Given the description of an element on the screen output the (x, y) to click on. 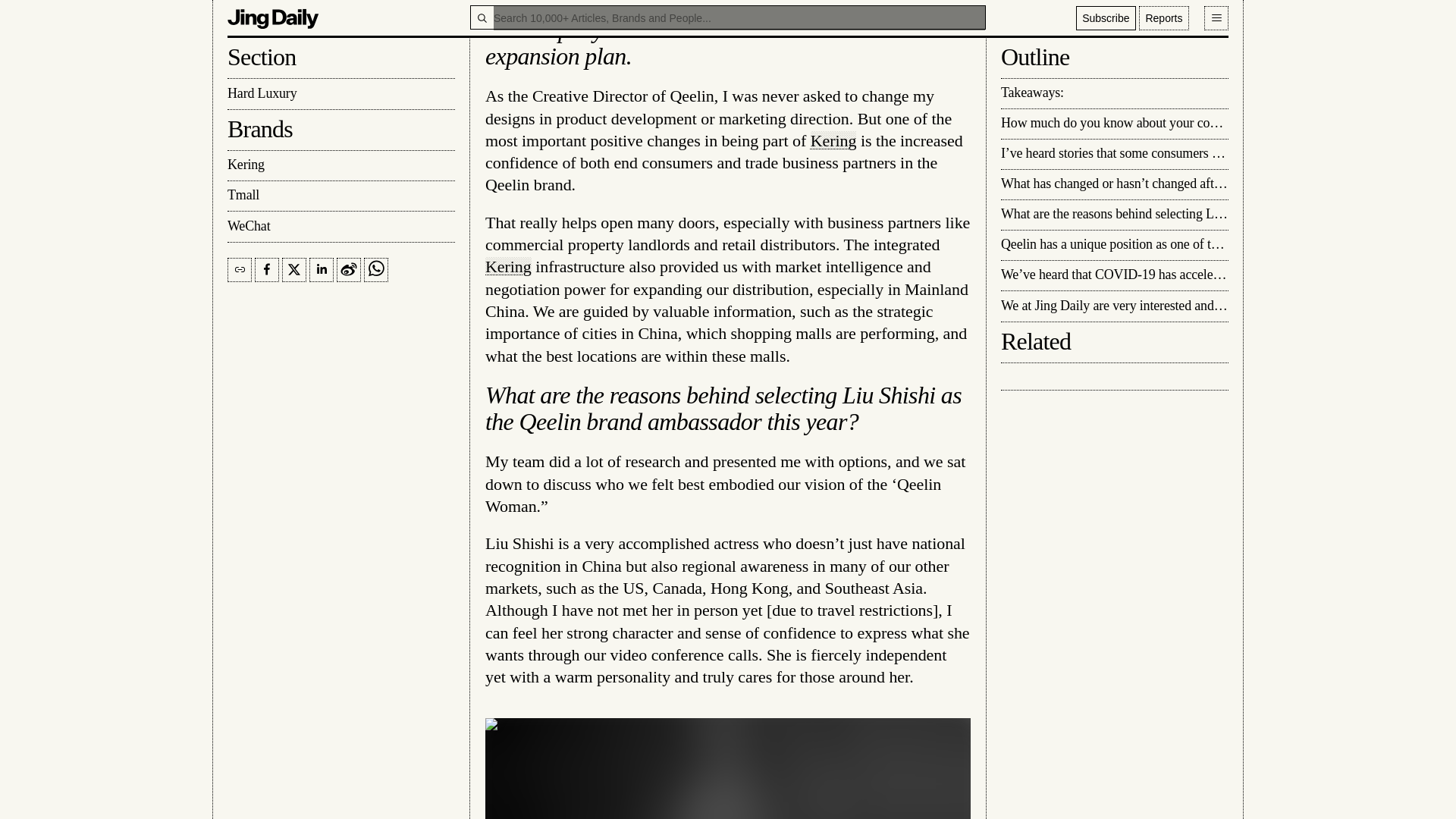
Kering (507, 266)
Kering (833, 140)
